Given the description of an element on the screen output the (x, y) to click on. 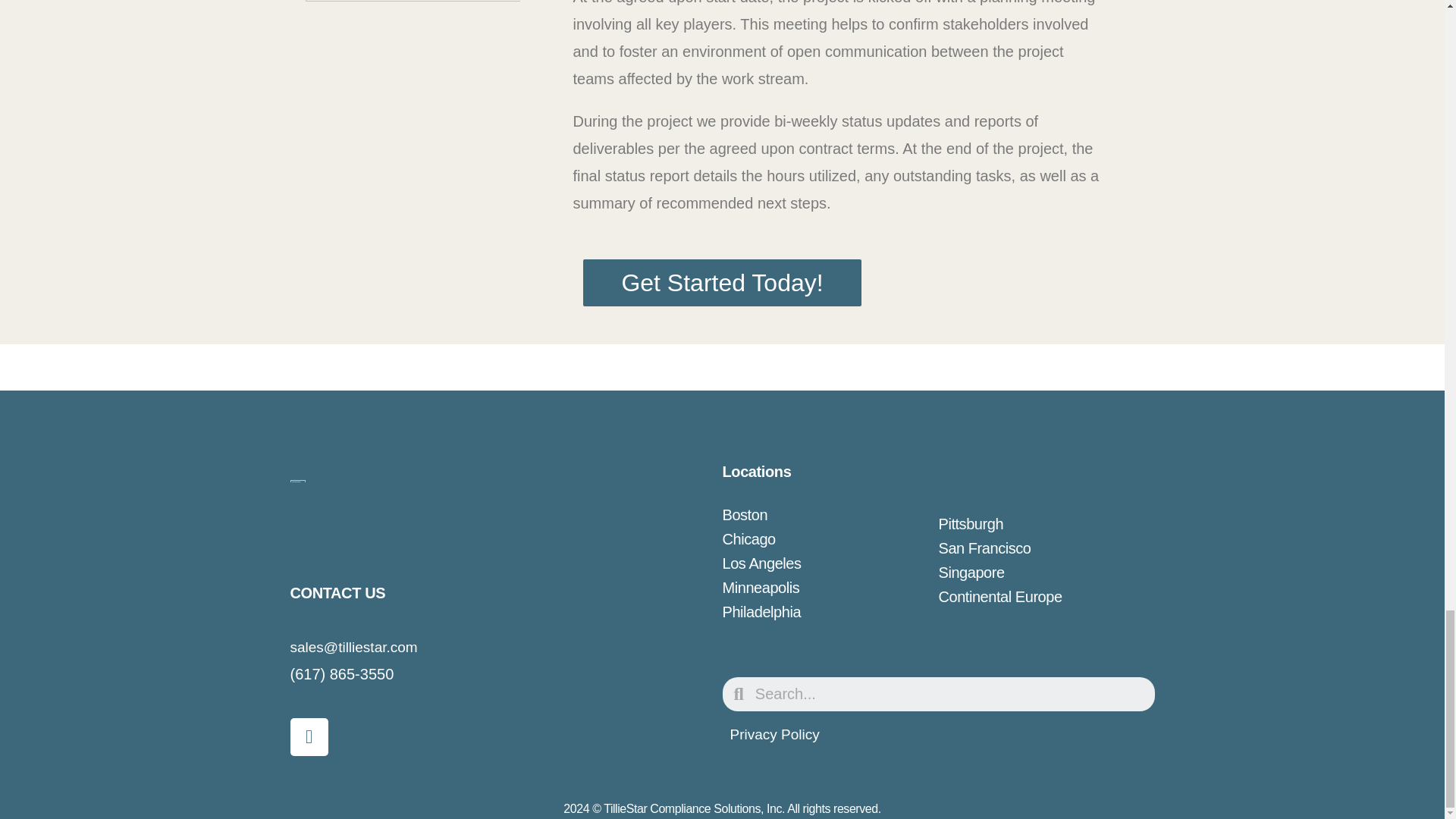
Search (949, 694)
Get Started Today! (721, 282)
Privacy Policy (773, 734)
